Given the description of an element on the screen output the (x, y) to click on. 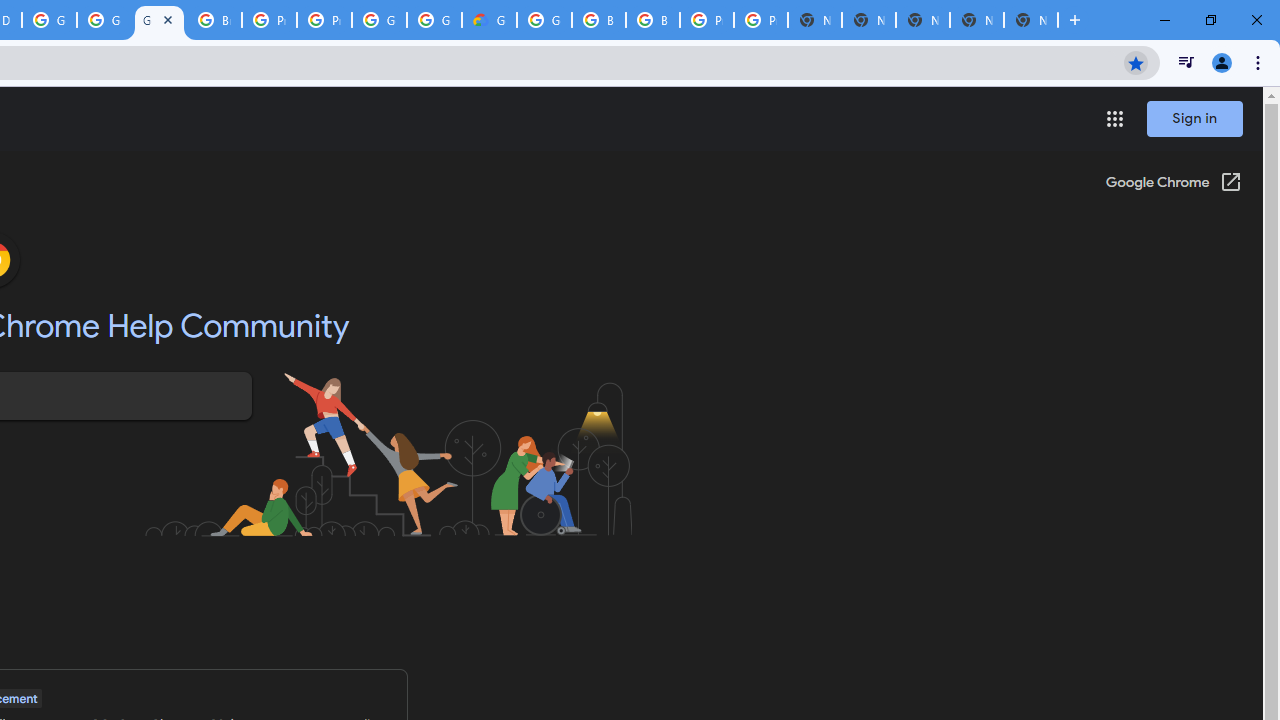
Google Cloud Platform (379, 20)
Google Cloud Estimate Summary (489, 20)
Google Cloud Platform (434, 20)
